Given the description of an element on the screen output the (x, y) to click on. 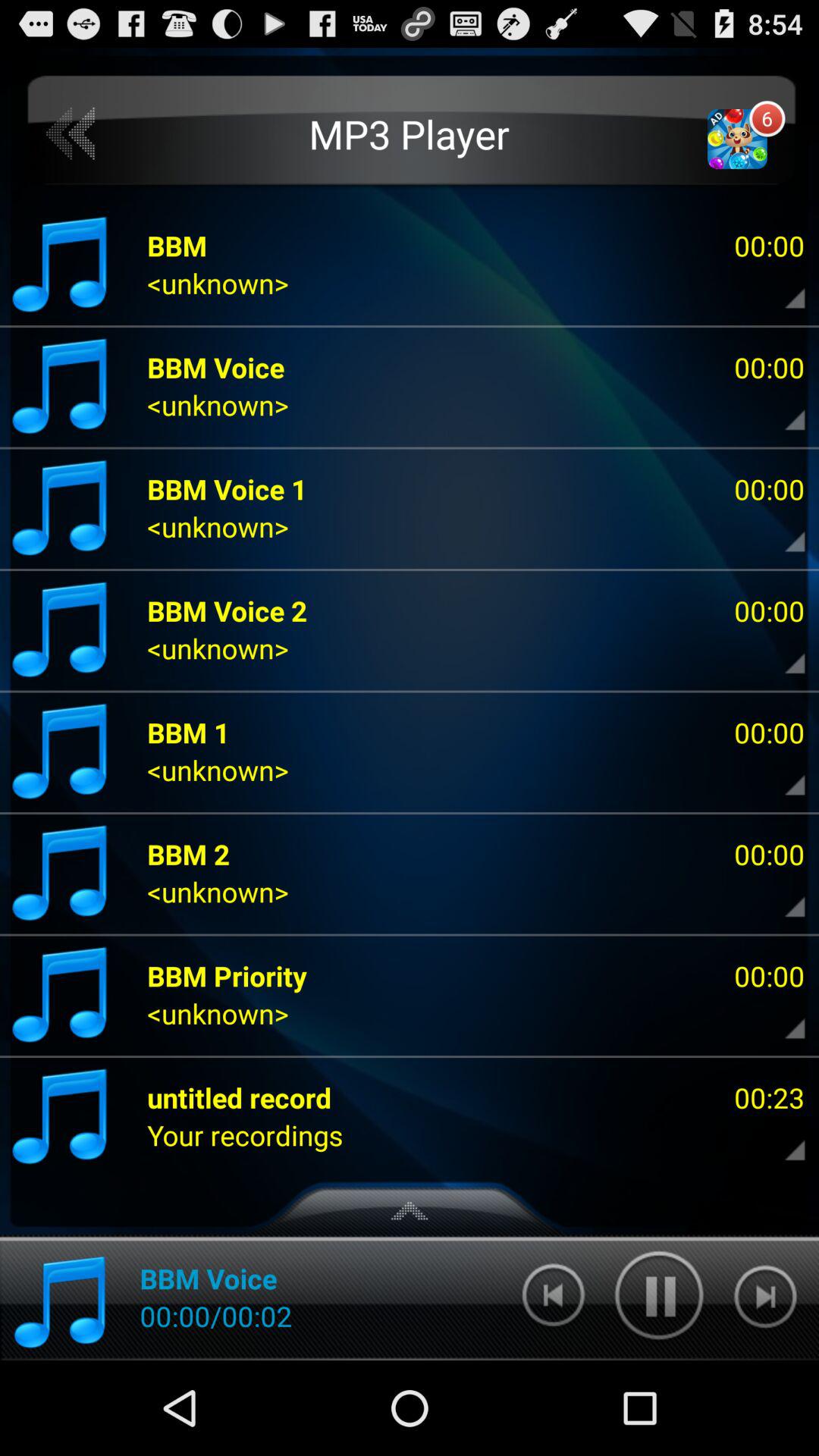
expand options (782, 895)
